Given the description of an element on the screen output the (x, y) to click on. 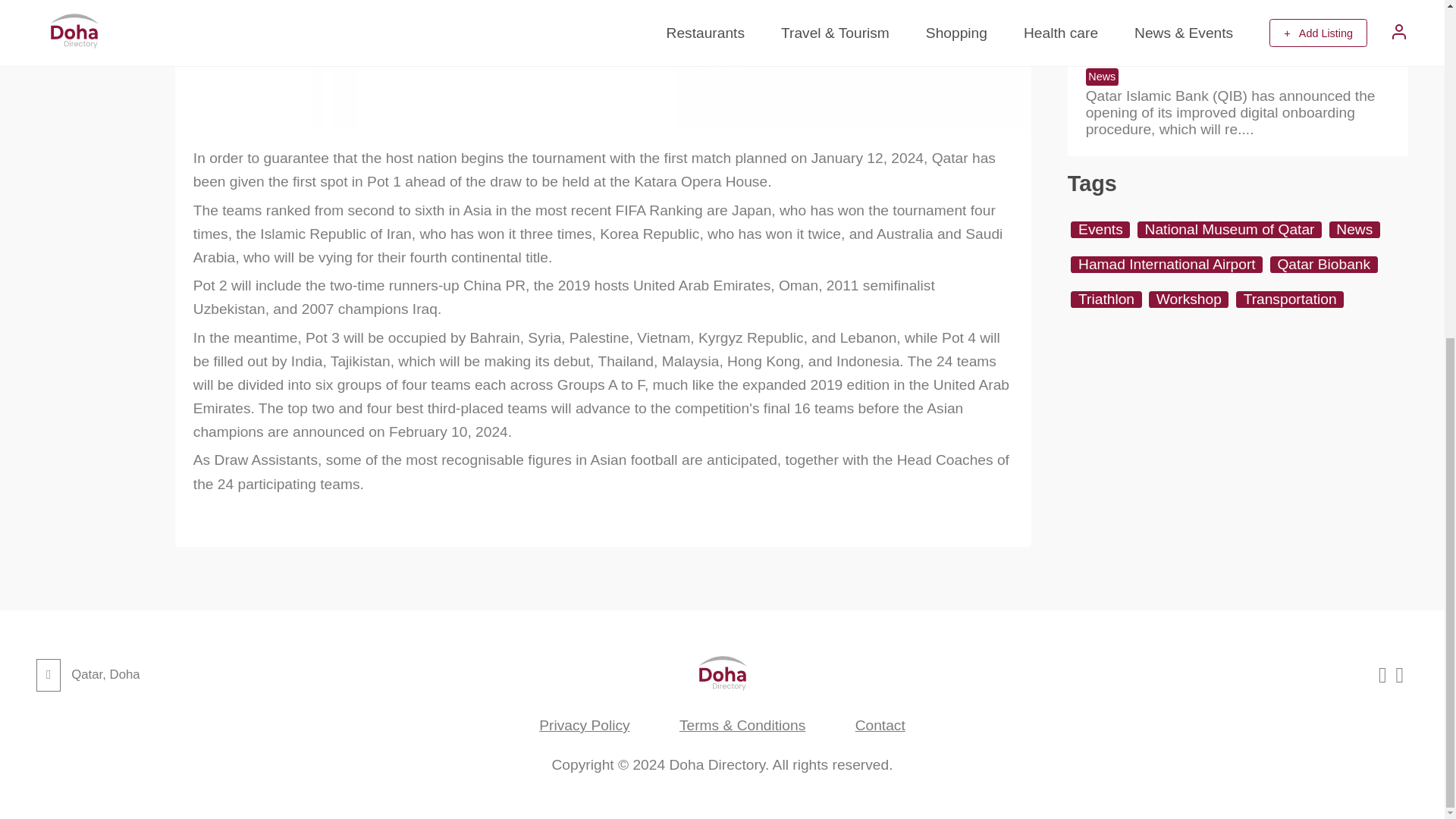
Workshop (1188, 299)
National Museum of Qatar (1229, 229)
Hamad International Airport (1166, 264)
Qatar Biobank (1323, 264)
Contact (880, 725)
News (1354, 229)
Transportation (1289, 299)
Privacy Policy (583, 725)
News (1102, 76)
Triathlon (1105, 299)
Events (1099, 229)
